Given the description of an element on the screen output the (x, y) to click on. 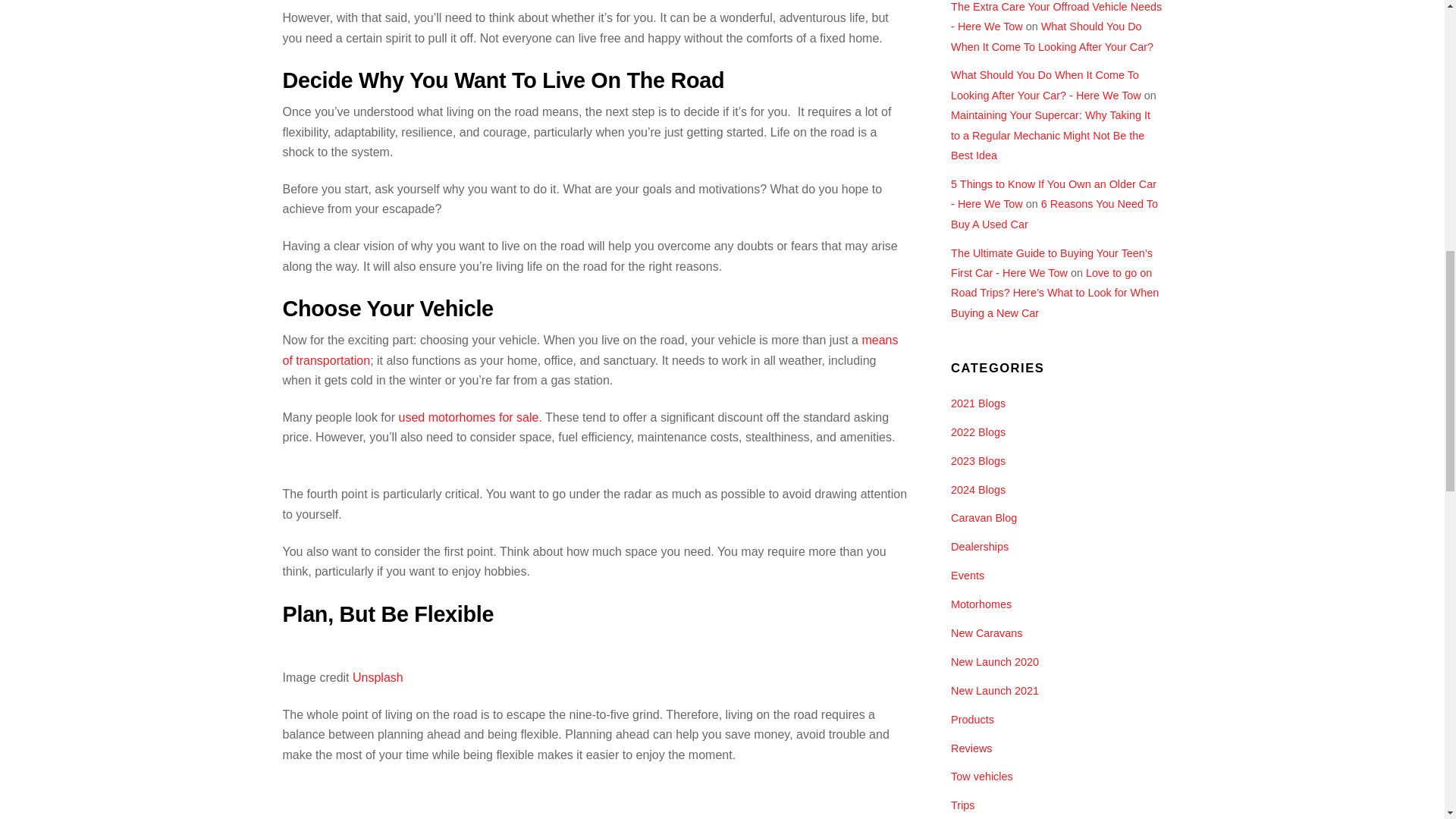
means of transportation (590, 349)
Unsplash (377, 676)
used motorhomes for sale (467, 417)
